Given the description of an element on the screen output the (x, y) to click on. 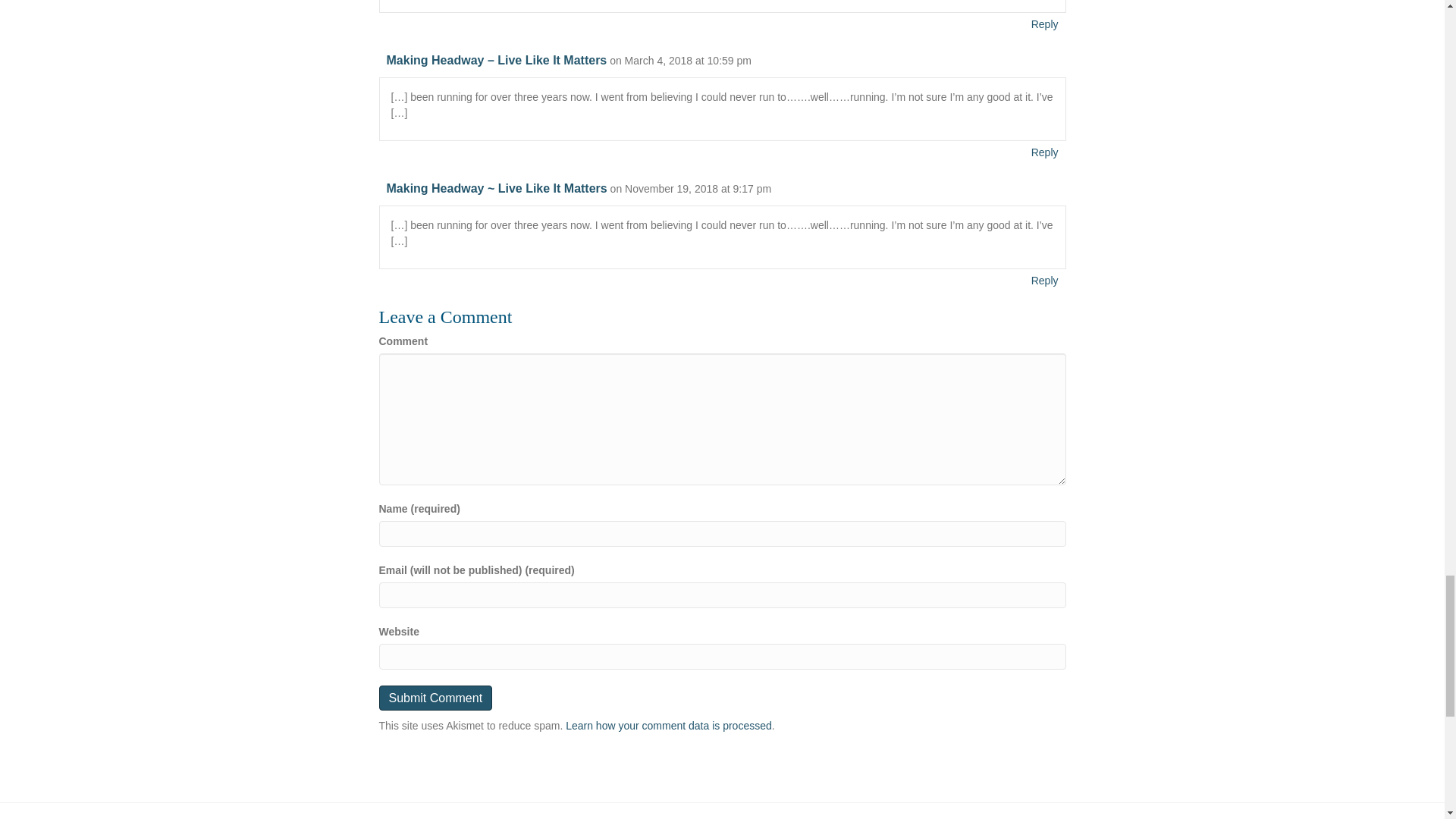
Submit Comment (435, 697)
